Given the description of an element on the screen output the (x, y) to click on. 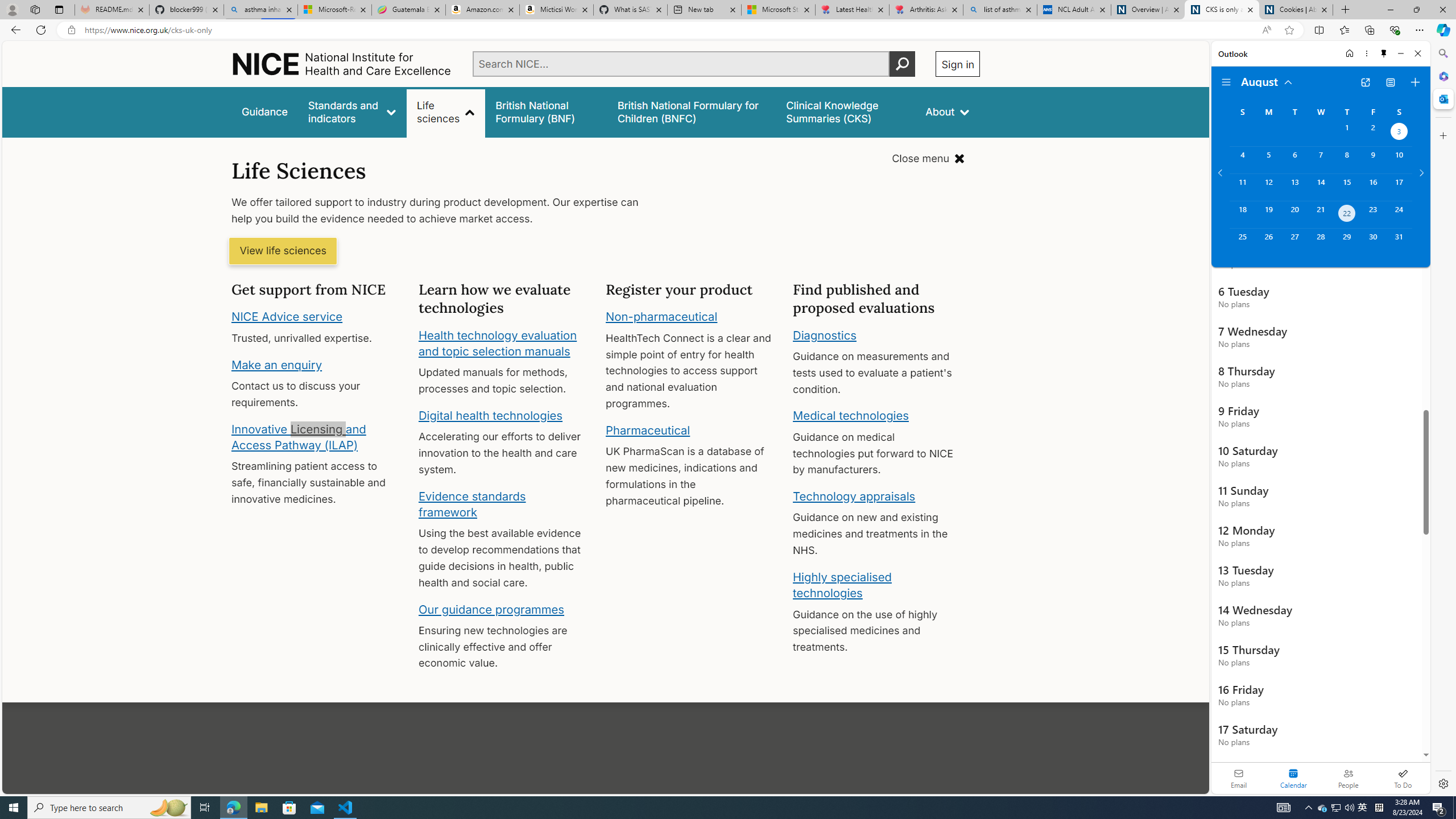
Wednesday, August 14, 2024.  (1320, 186)
Friday, August 23, 2024.  (1372, 214)
People (1347, 777)
Make an enquiry (276, 364)
Guidance (264, 111)
Friday, August 9, 2024.  (1372, 159)
